Given the description of an element on the screen output the (x, y) to click on. 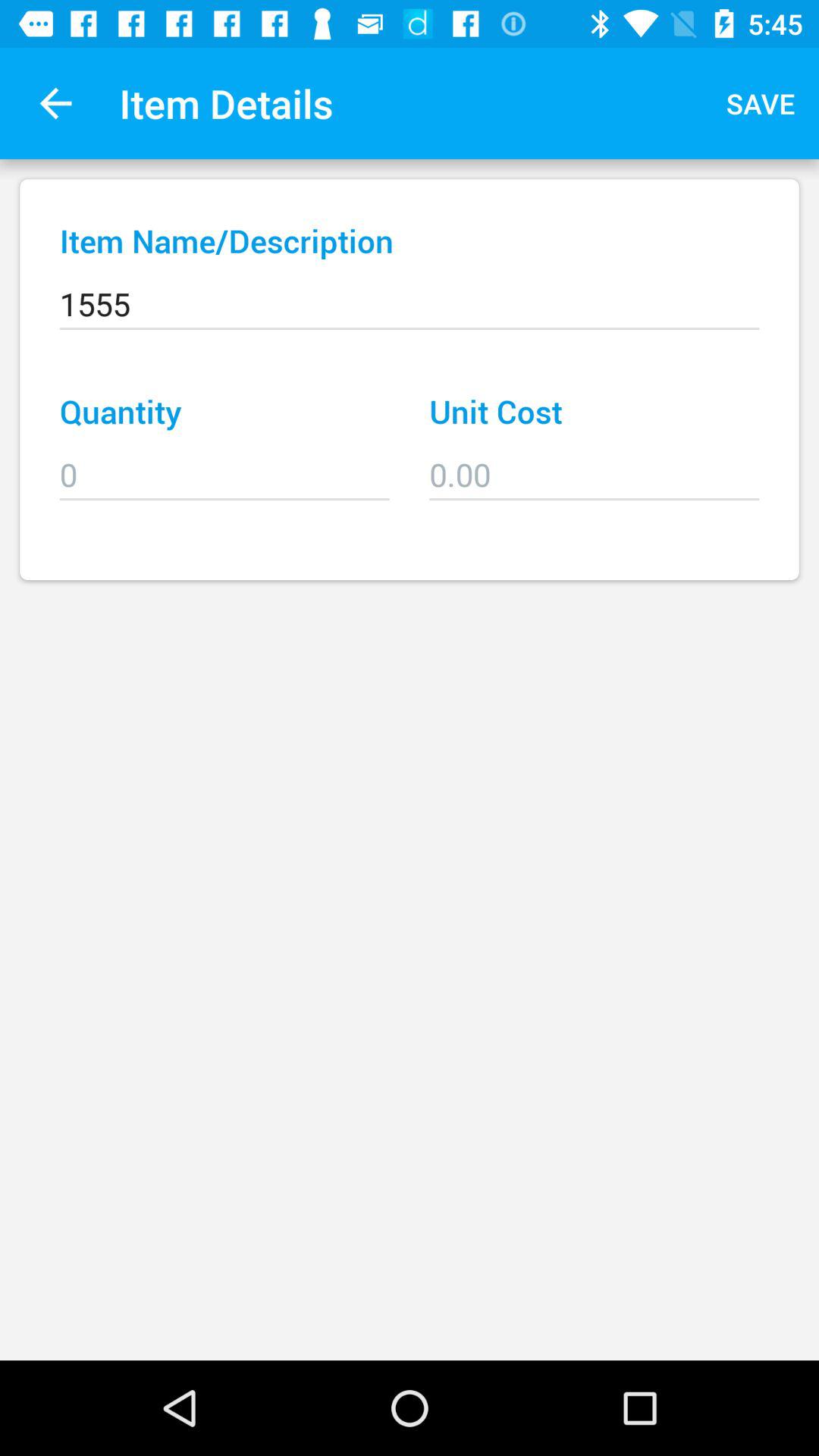
choose save item (760, 103)
